Given the description of an element on the screen output the (x, y) to click on. 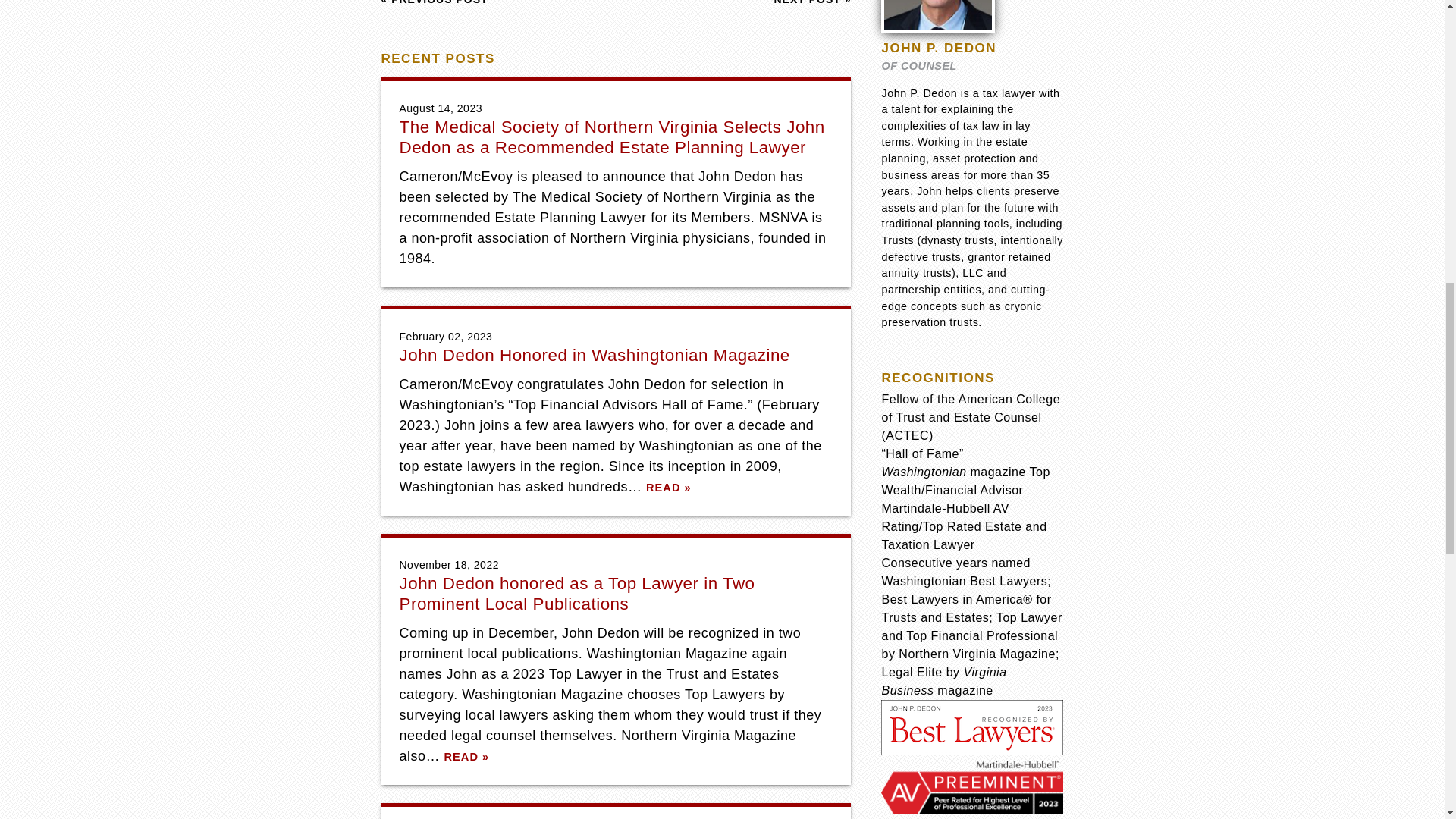
John Dedon Honored in Washingtonian Magazine (593, 354)
Read John Dedon Honored in Washingtonian Magazine (668, 487)
John Dedon Honored in Washingtonian Magazine (593, 354)
